Given the description of an element on the screen output the (x, y) to click on. 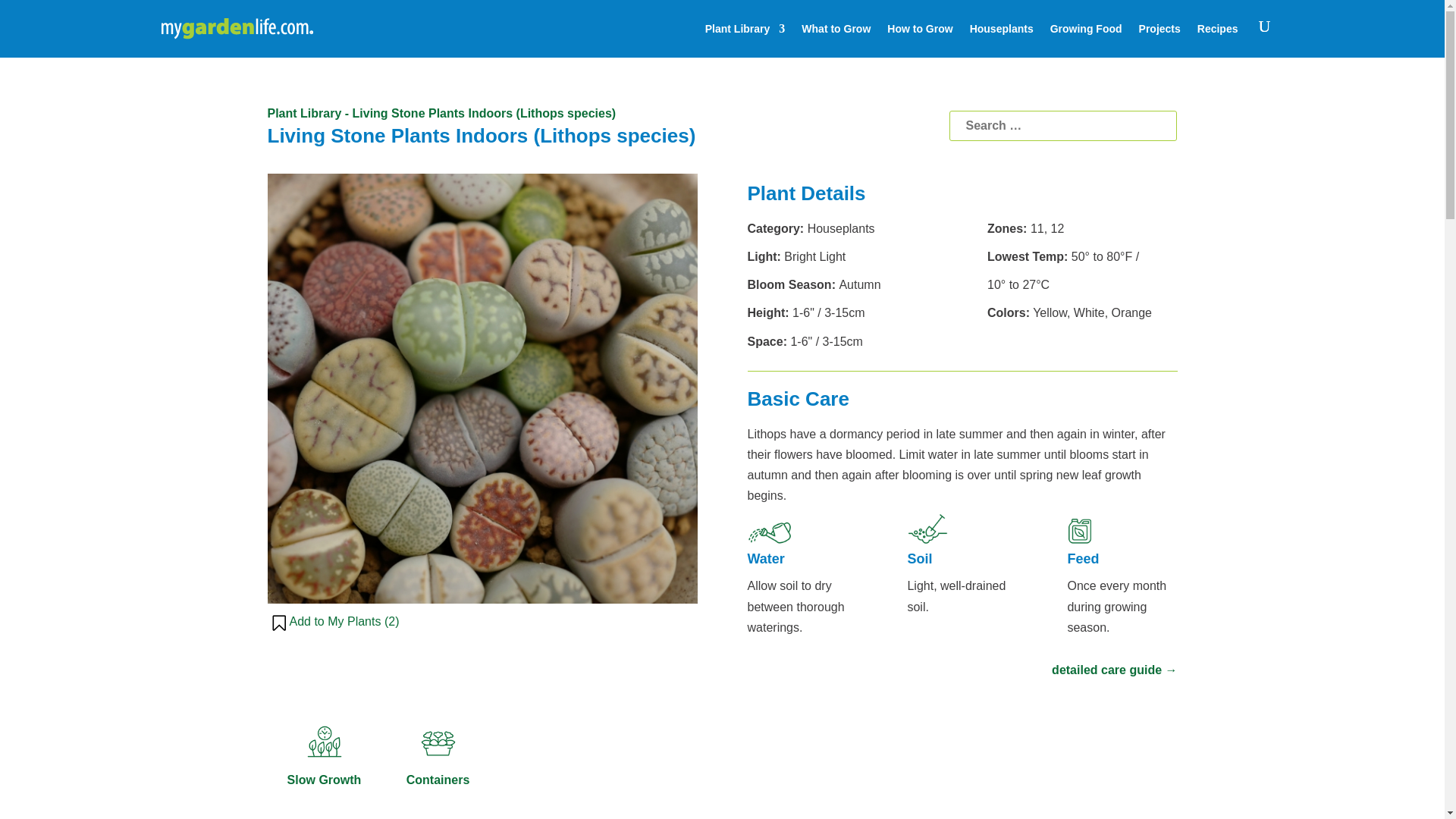
Houseplants (1001, 28)
How to Grow (919, 28)
Plant Library (745, 28)
Plant Library (303, 113)
Growing Food (1085, 28)
Bookmark This (334, 622)
What to Grow (836, 28)
Search (1062, 125)
